Given the description of an element on the screen output the (x, y) to click on. 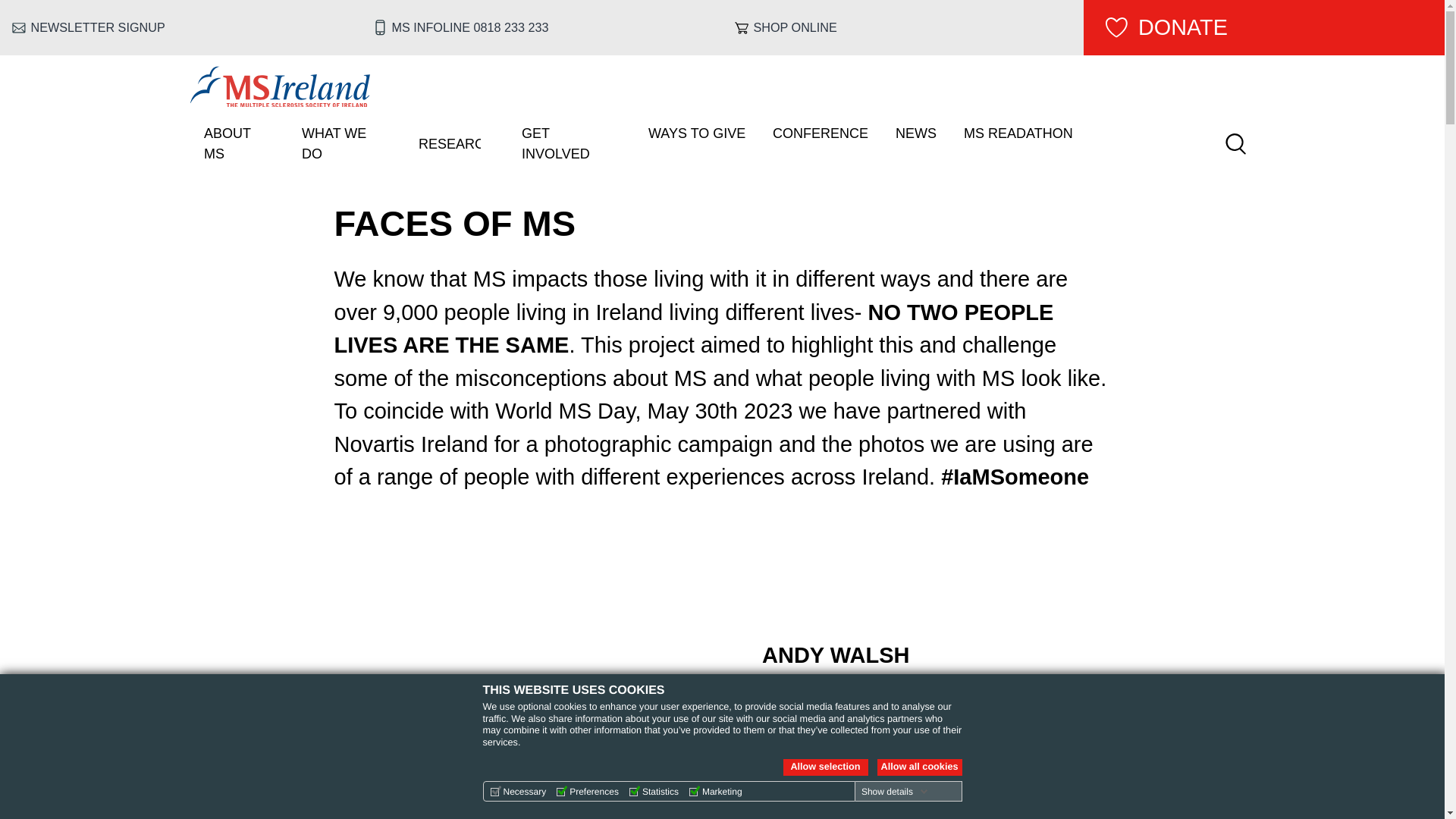
Show details (895, 791)
Search (1234, 143)
Allow all cookies (918, 767)
Allow selection (825, 767)
